Given the description of an element on the screen output the (x, y) to click on. 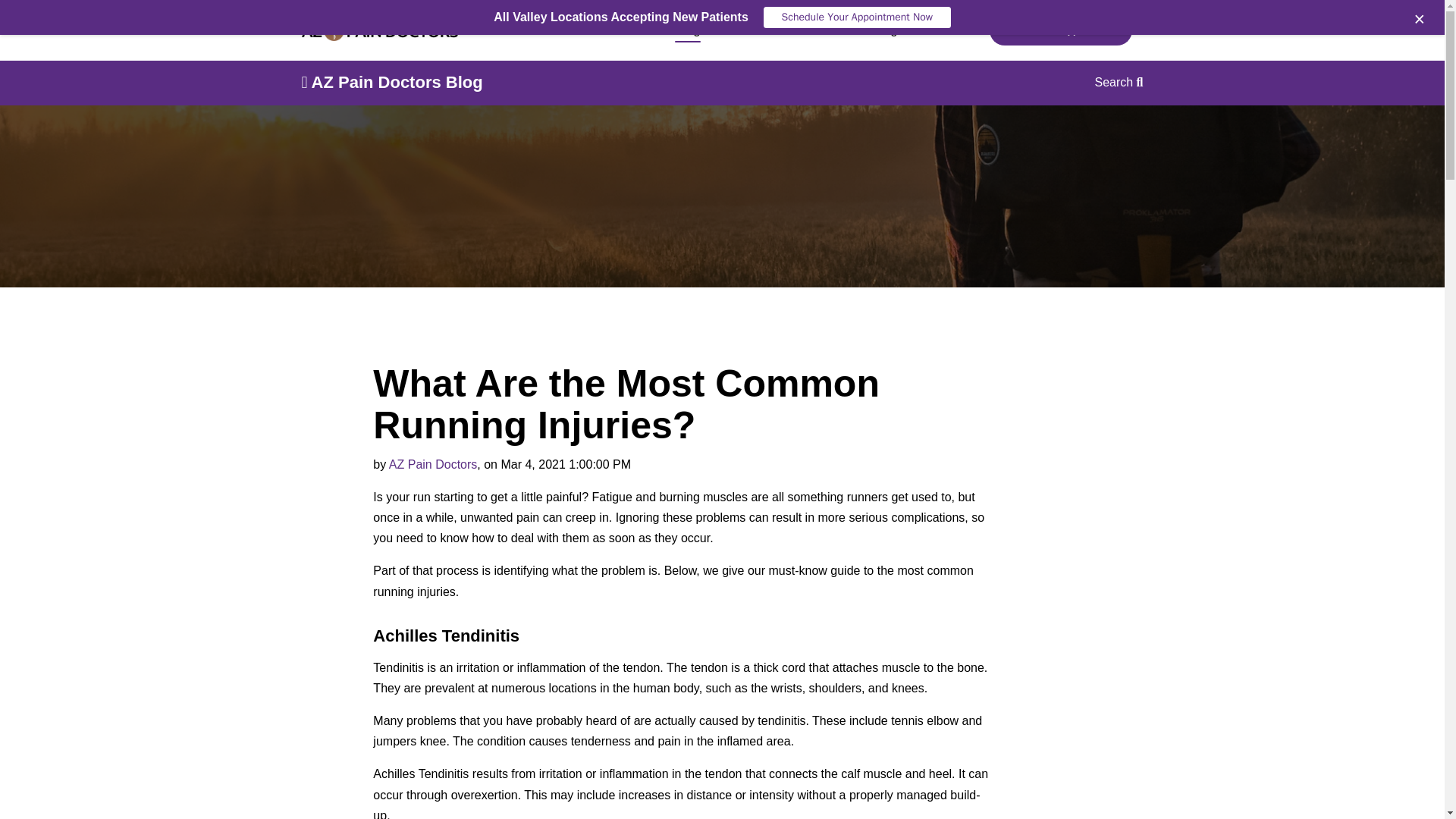
Schedule an Appointment (1061, 30)
Insurance (811, 30)
az-pain-logo (379, 30)
Treatments (615, 30)
Conditions (526, 30)
AZ Pain Doctors Blog (392, 81)
AZ Pain Doctors (432, 463)
